Given the description of an element on the screen output the (x, y) to click on. 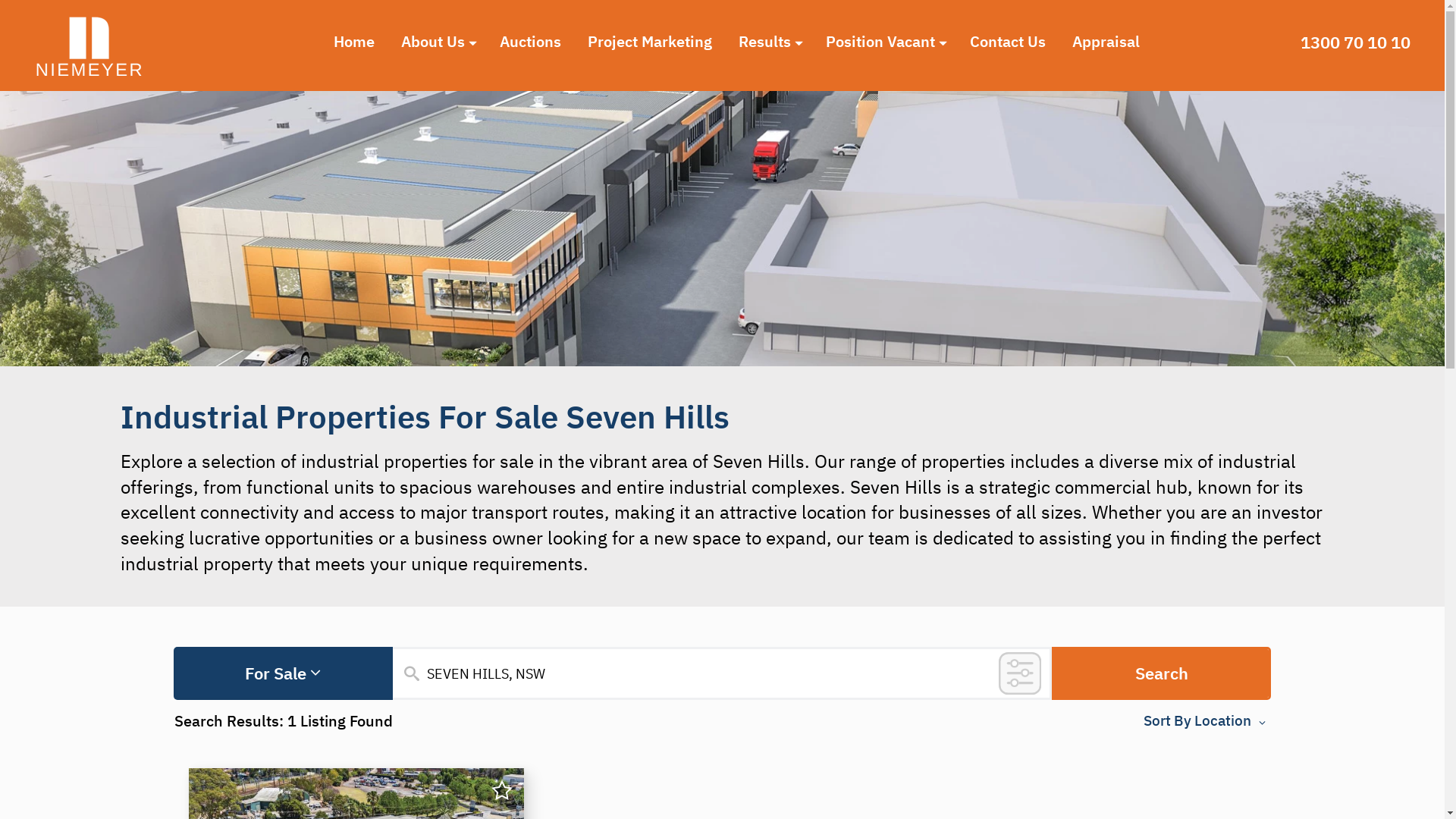
About Us Element type: text (438, 41)
Search Element type: text (1161, 672)
For Sale Element type: text (283, 672)
Location Element type: text (1231, 720)
Home Element type: text (355, 41)
Project Marketing Element type: text (651, 41)
Contact Us Element type: text (1009, 41)
Position Vacant Element type: text (886, 41)
Auctions Element type: text (532, 41)
Appraisal Element type: text (1107, 41)
1300 70 10 10 Element type: text (1359, 42)
Results Element type: text (769, 41)
